Given the description of an element on the screen output the (x, y) to click on. 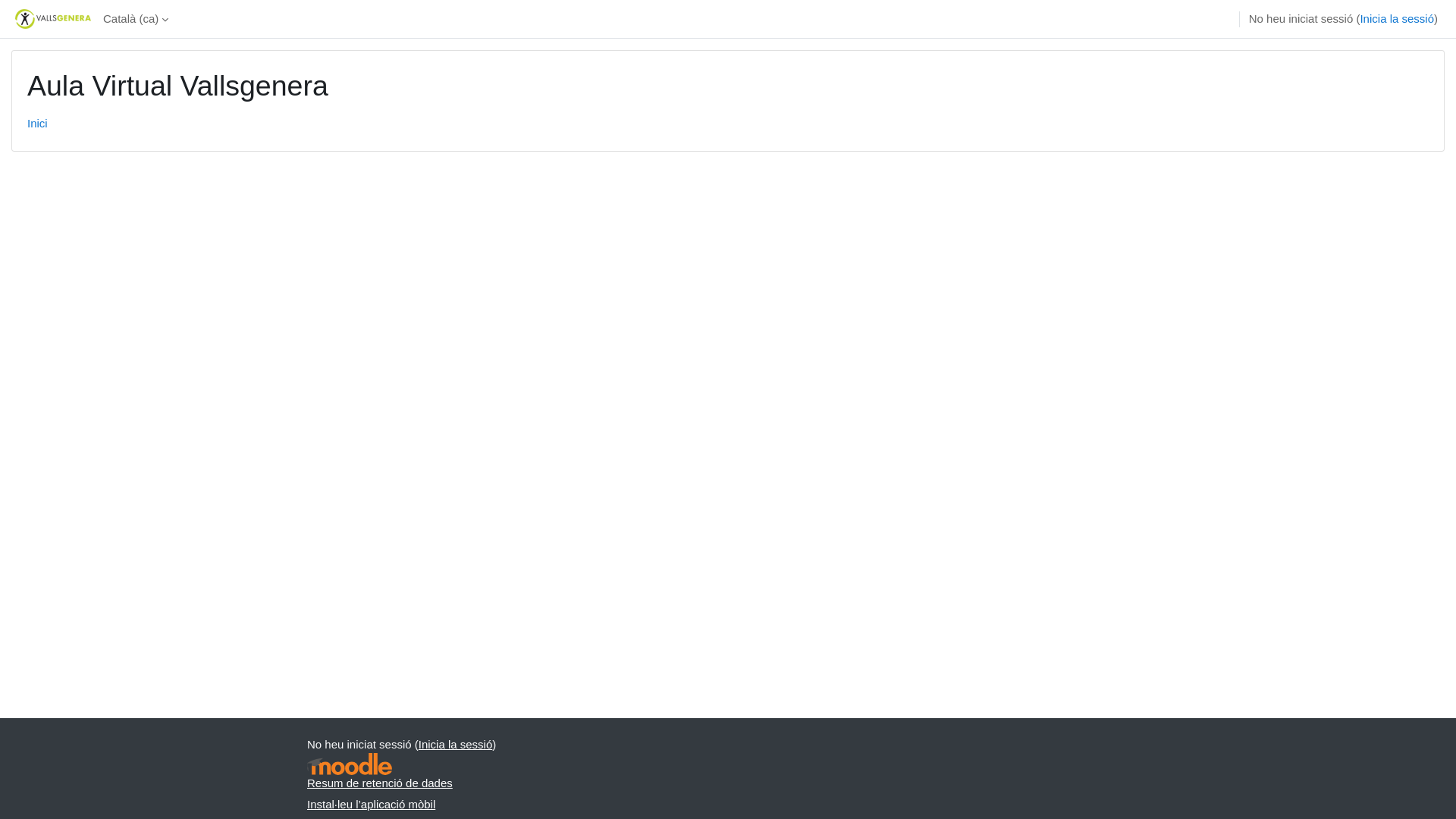
Inici Element type: text (37, 122)
Moodle Element type: hover (349, 764)
